Given the description of an element on the screen output the (x, y) to click on. 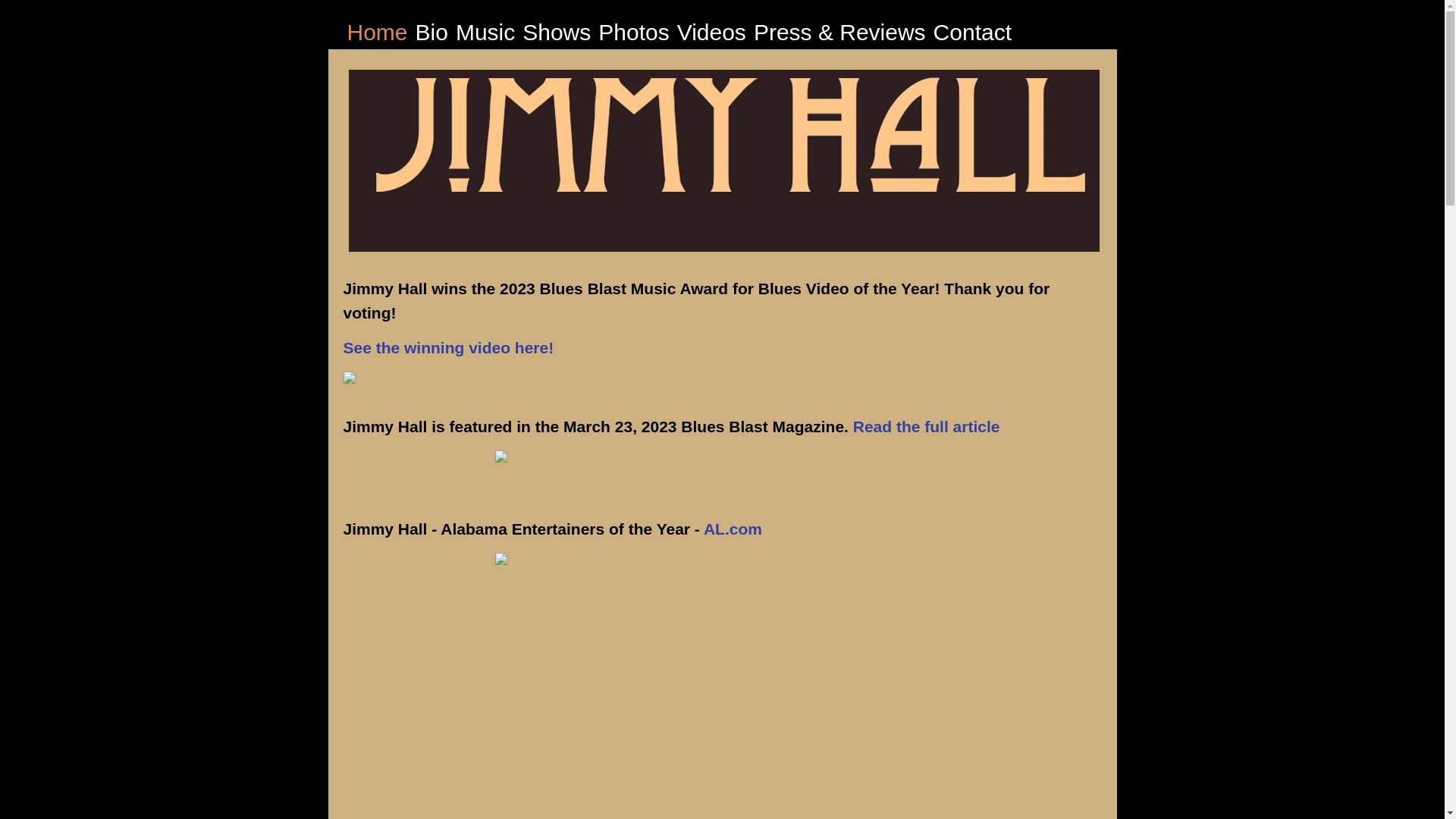
Bio (431, 32)
See the winning video here! (447, 349)
Music (485, 32)
Home (377, 32)
vimeo-player (585, 705)
Videos (711, 32)
AL.com (732, 530)
Read the full article (926, 427)
Shows (556, 32)
Photos (633, 32)
Contact (972, 32)
